Given the description of an element on the screen output the (x, y) to click on. 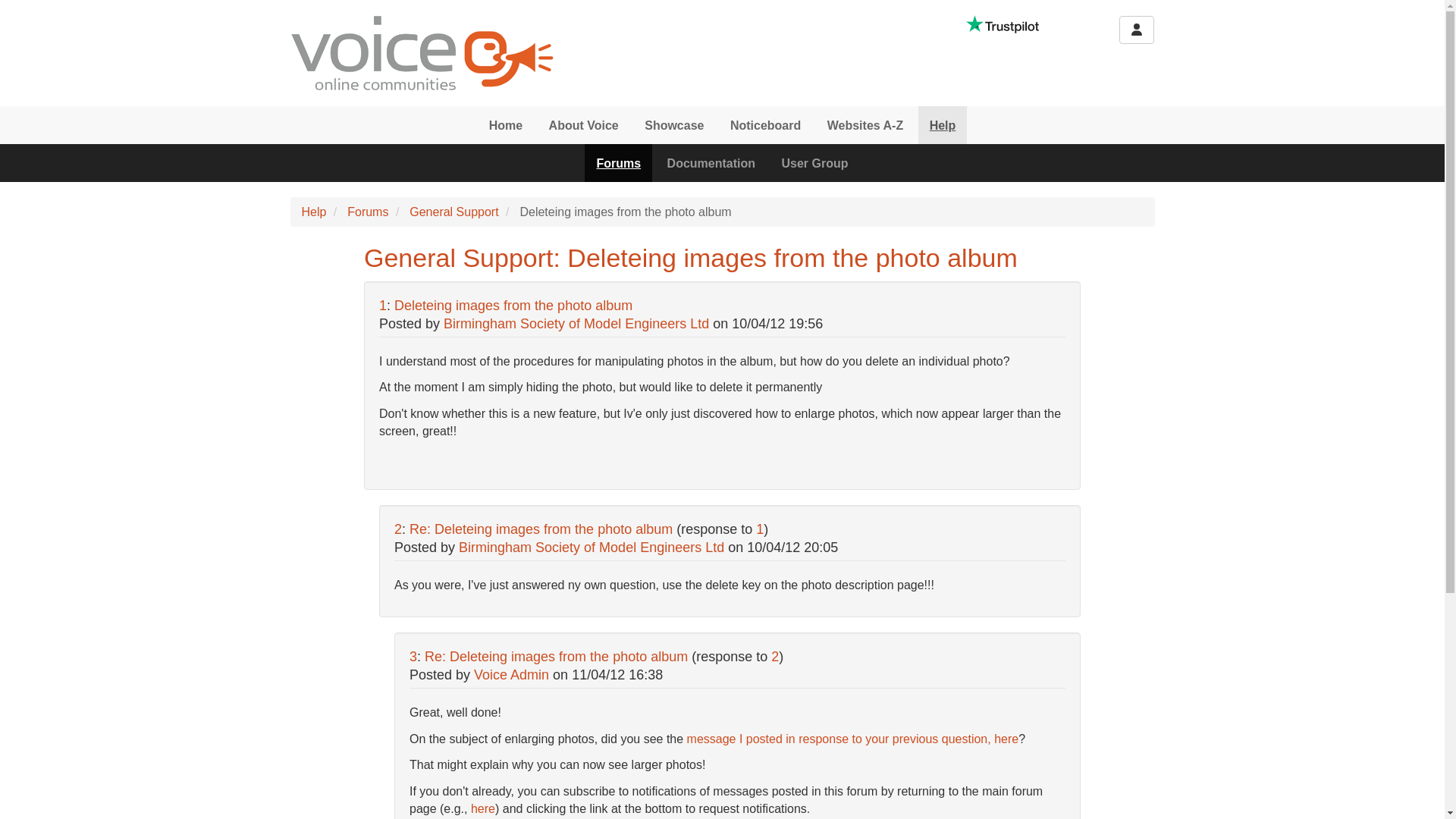
Documentation (711, 162)
Link to this post on a separate page (512, 305)
Help (313, 211)
User menu (1136, 29)
Forums (618, 162)
About Voice (583, 125)
User Group (815, 162)
Link to this post on a separate page (556, 656)
Showcase (673, 125)
Forums (367, 211)
User menu (1136, 29)
Noticeboard (765, 125)
Deleteing images from the photo album (512, 305)
General Support (453, 211)
Help (943, 125)
